Given the description of an element on the screen output the (x, y) to click on. 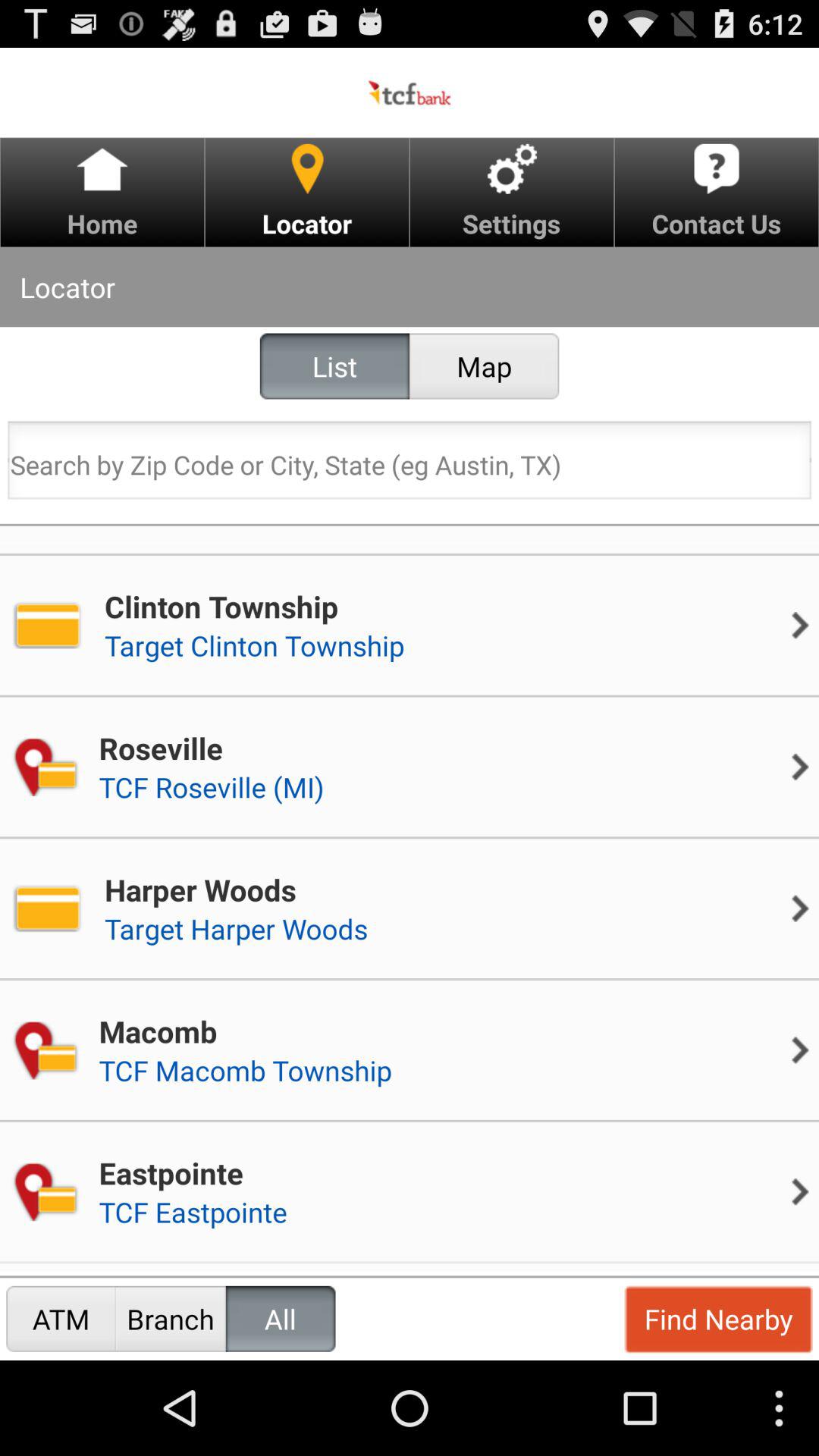
turn on radio button to the right of atm radio button (170, 1318)
